Given the description of an element on the screen output the (x, y) to click on. 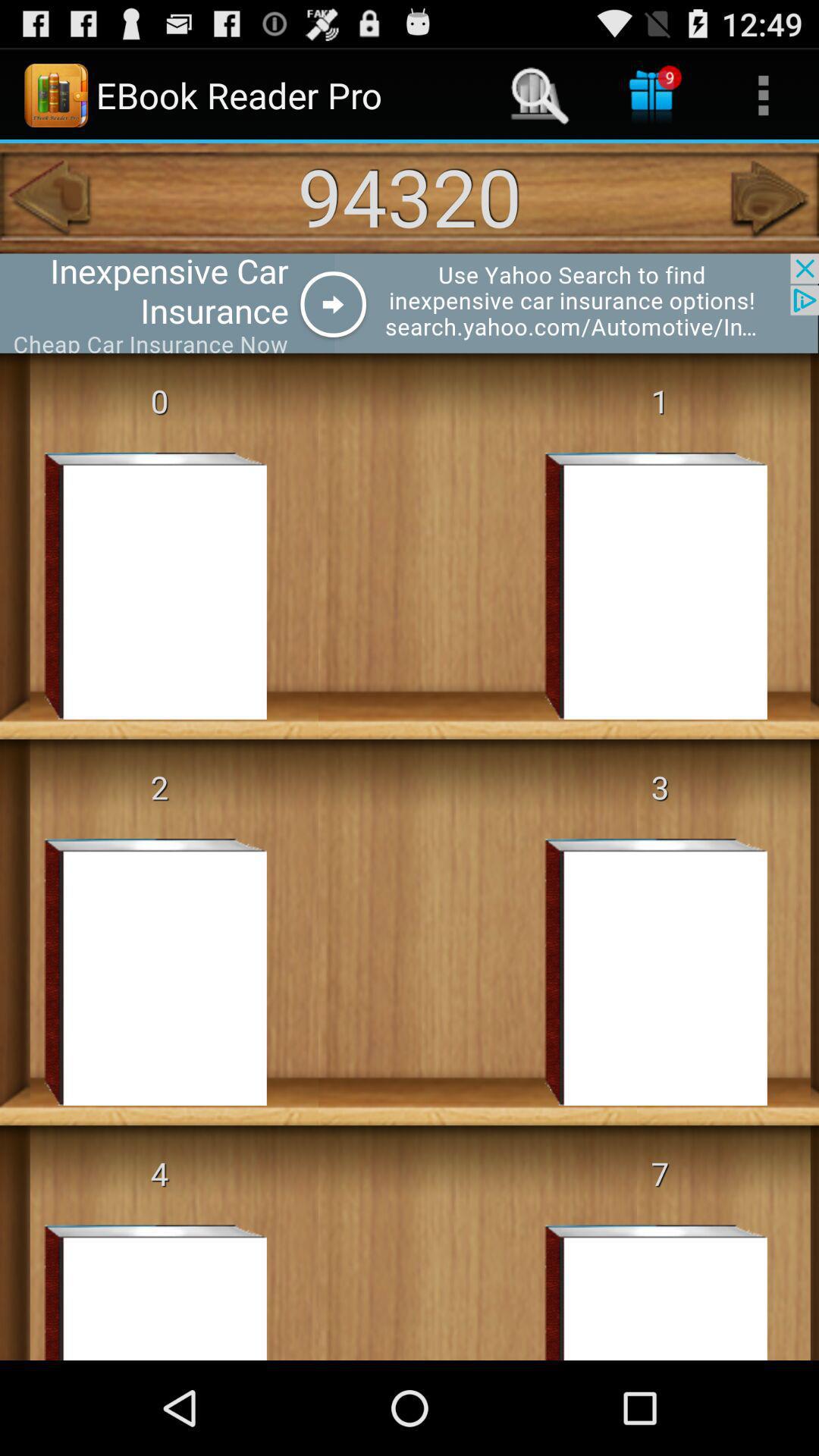
select the book which is below the number 3 (633, 971)
click on gifts at right side of search icon (651, 95)
click on the boox which is below the numerical 1 (633, 585)
choose the  first foreword icon which is under the more option (771, 198)
